Given the description of an element on the screen output the (x, y) to click on. 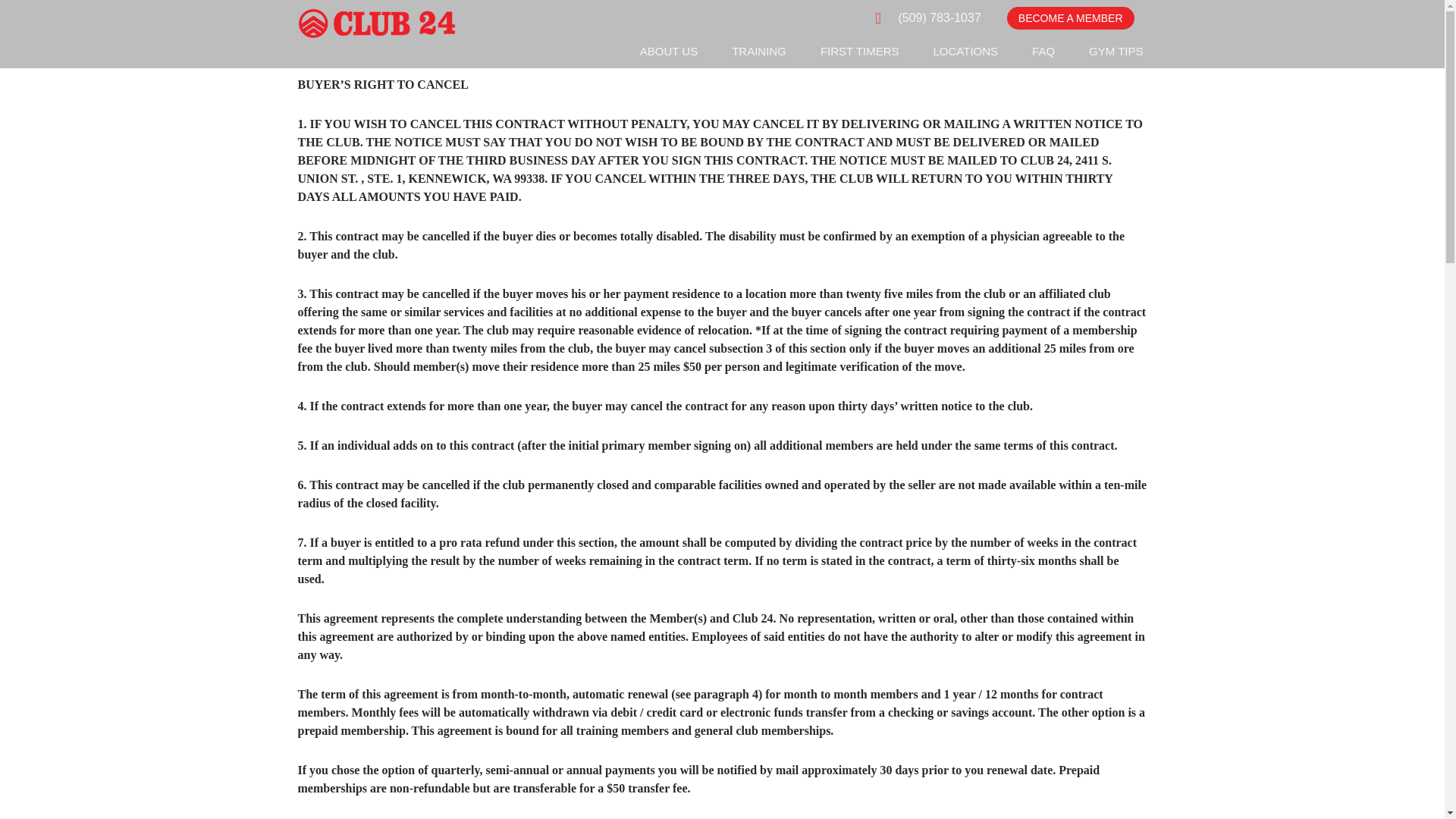
FAQ (1042, 51)
GYM TIPS (1115, 51)
ABOUT US (668, 51)
TRAINING (759, 51)
BECOME A MEMBER (1070, 17)
FIRST TIMERS (859, 51)
LOCATIONS (966, 51)
